Given the description of an element on the screen output the (x, y) to click on. 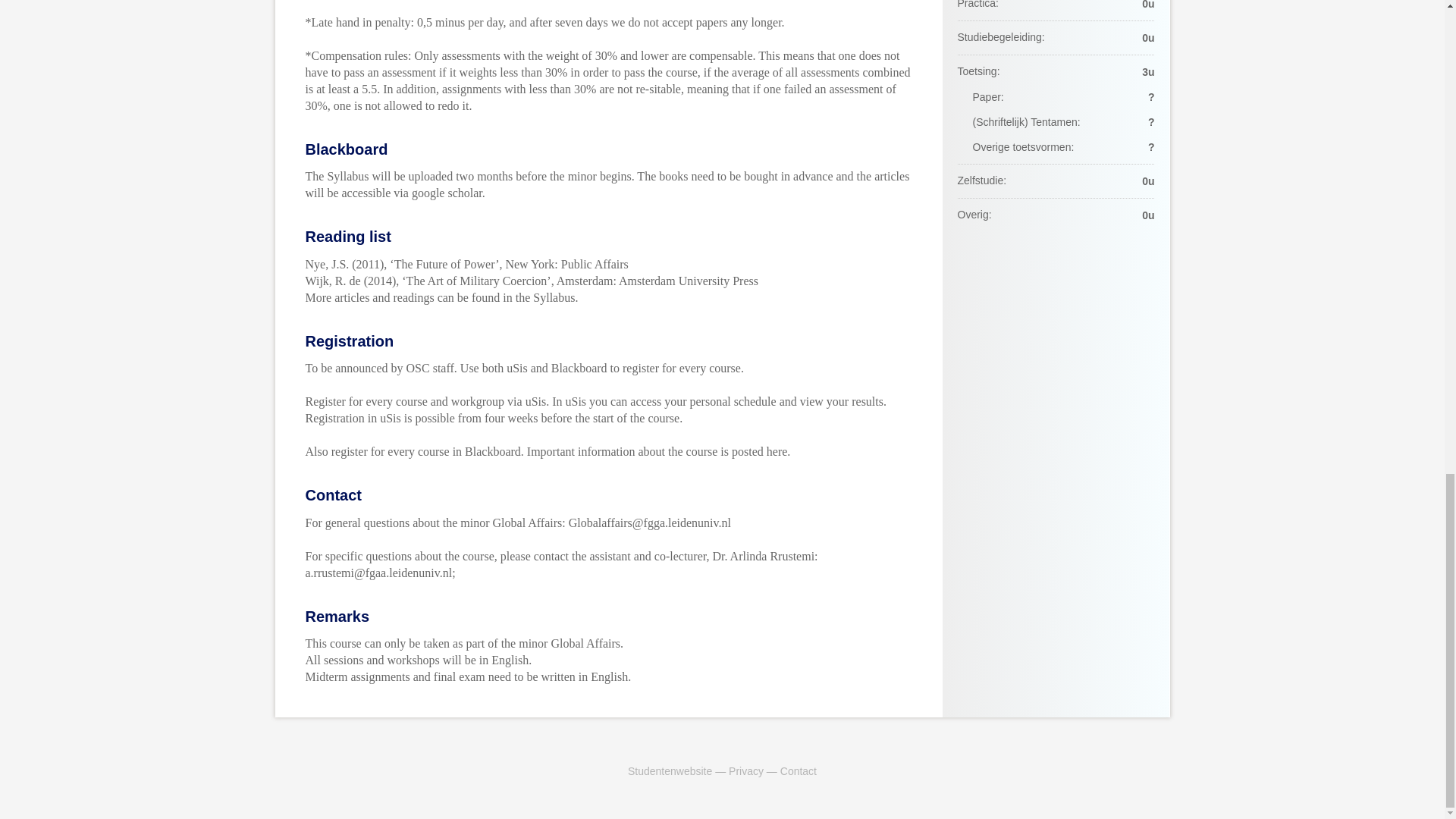
Contact (798, 770)
Studentenwebsite (669, 770)
Privacy (745, 770)
